Given the description of an element on the screen output the (x, y) to click on. 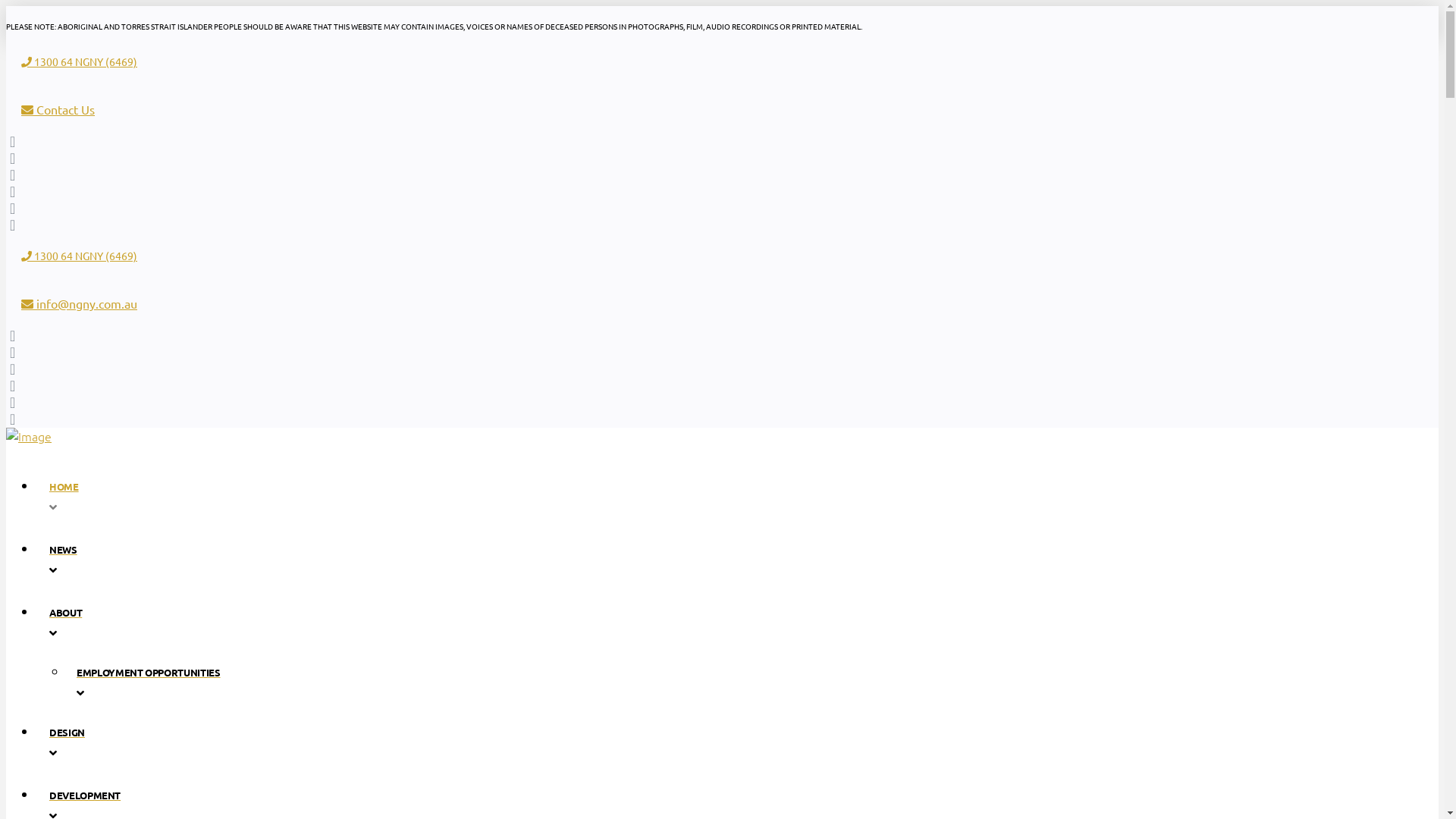
EMPLOYMENT OPPORTUNITIES Element type: text (151, 680)
info@ngny.com.au Element type: text (79, 302)
ABOUT Element type: text (476, 620)
HOME Element type: text (476, 495)
DESIGN Element type: text (476, 740)
NEWS Element type: text (476, 558)
1300 64 NGNY (6469) Element type: text (79, 61)
1300 64 NGNY (6469) Element type: text (79, 255)
Contact Us Element type: text (57, 108)
